Given the description of an element on the screen output the (x, y) to click on. 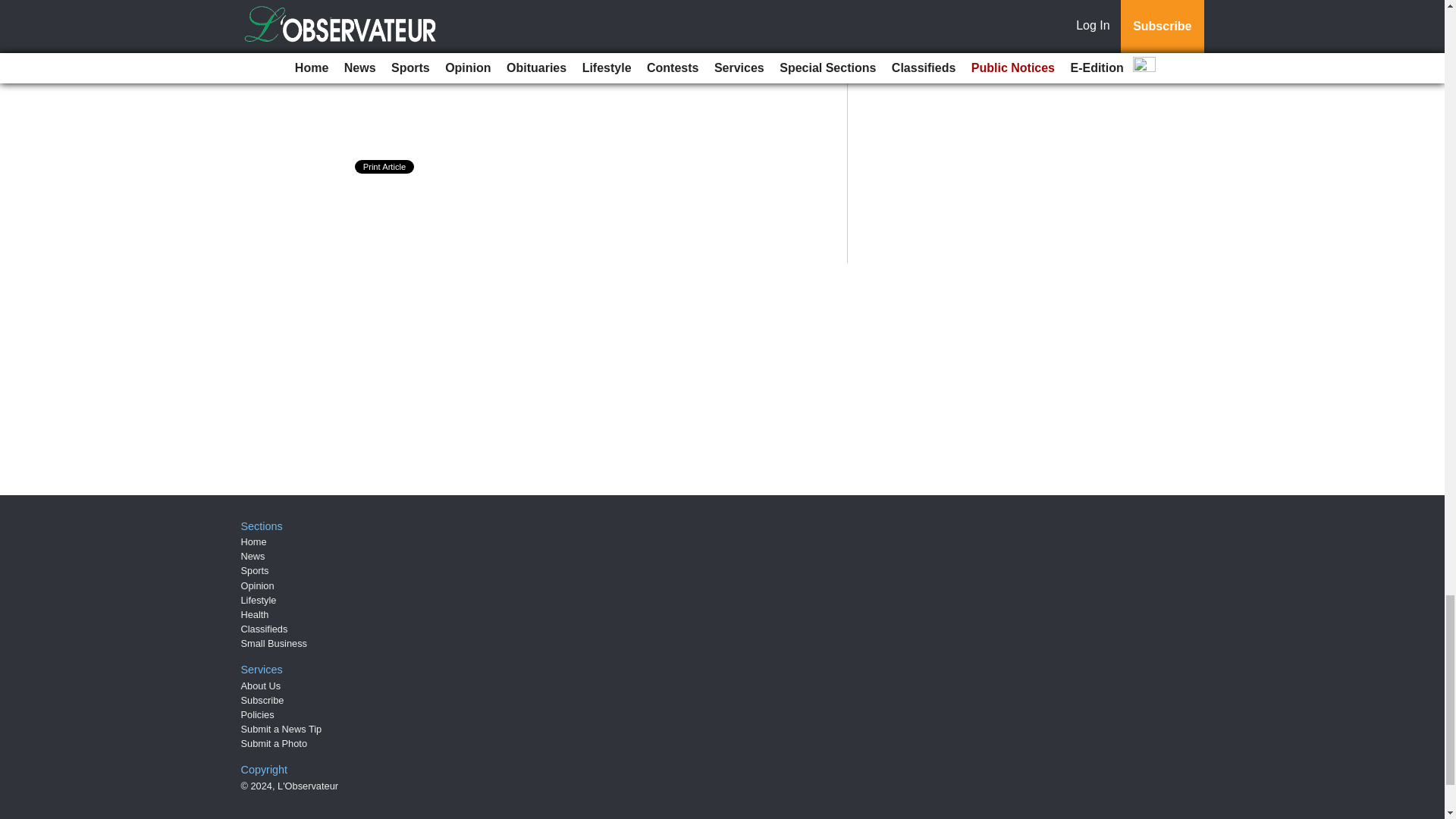
Print Article (384, 166)
